Given the description of an element on the screen output the (x, y) to click on. 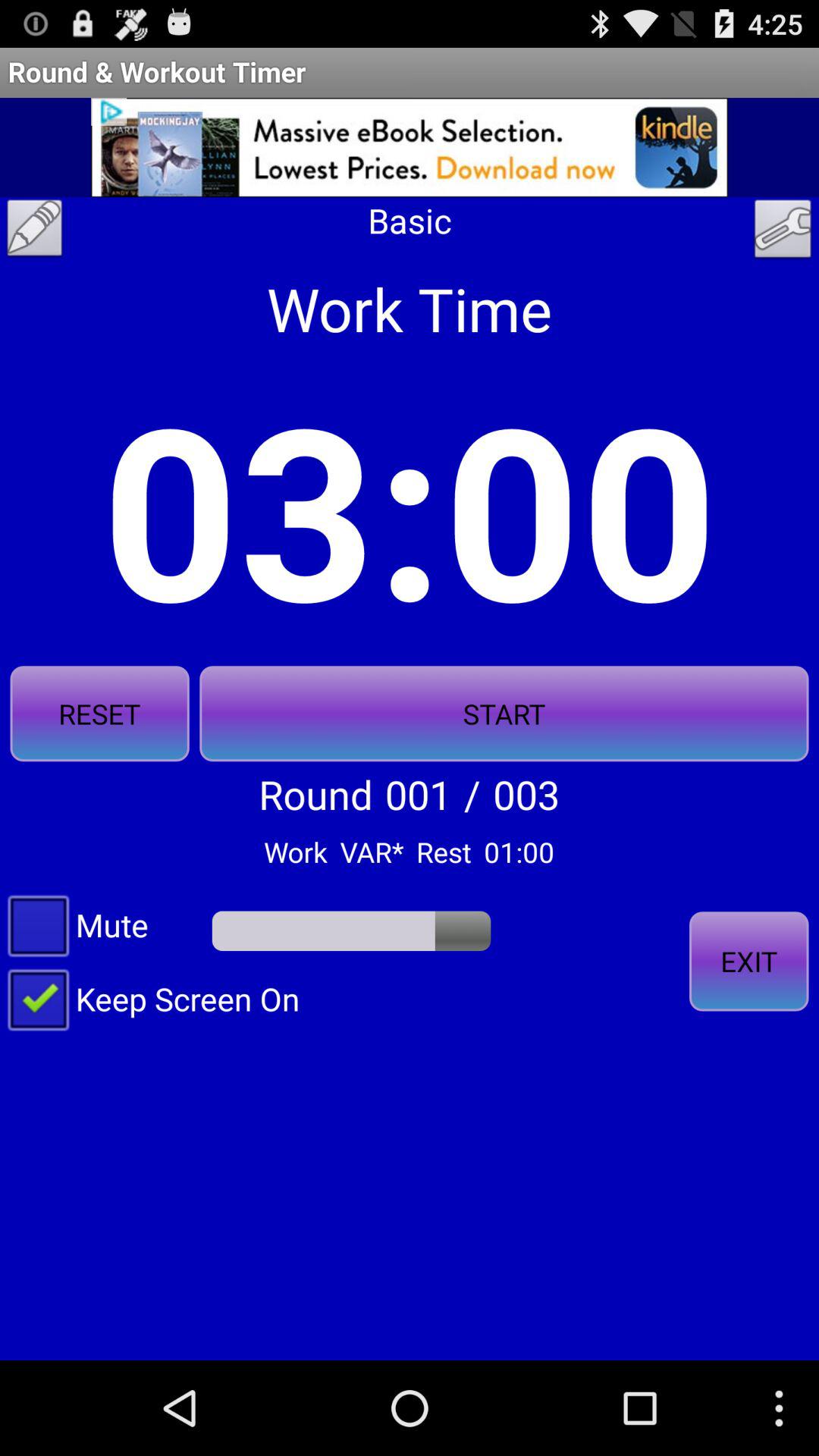
click app below the 03:00 (99, 713)
